Given the description of an element on the screen output the (x, y) to click on. 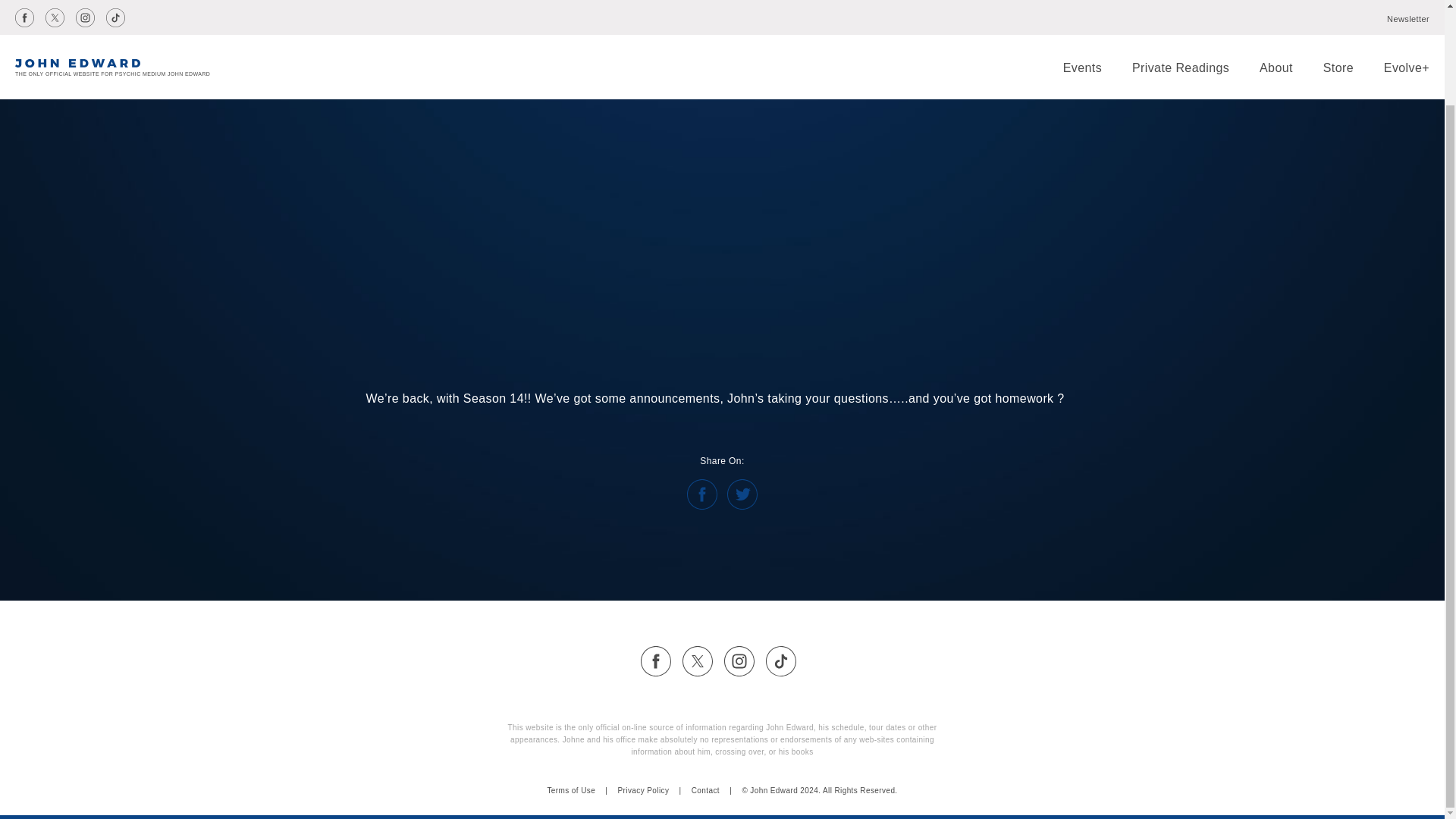
Contact (705, 790)
Terms of Use (571, 790)
Privacy Policy (643, 790)
